Given the description of an element on the screen output the (x, y) to click on. 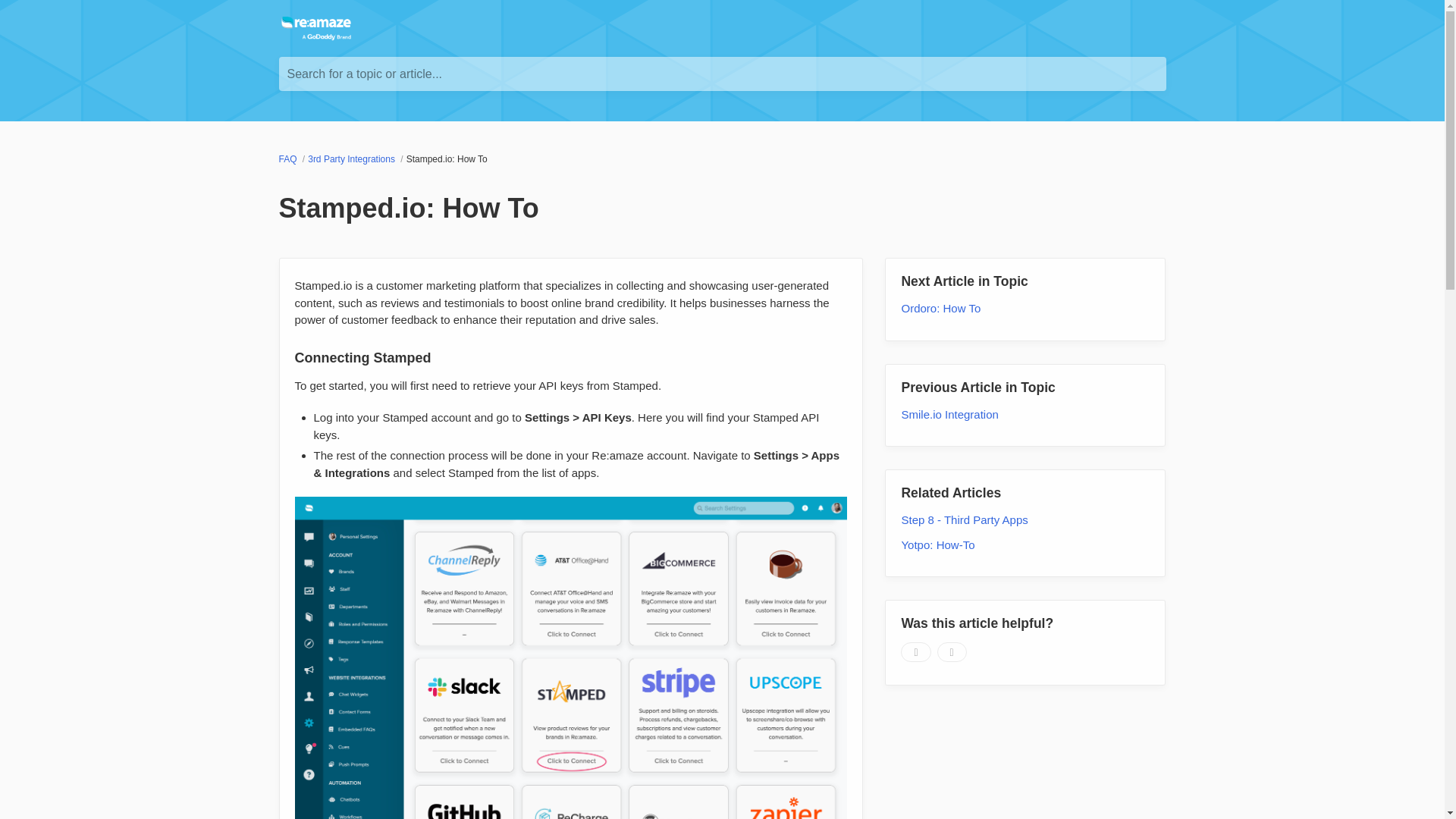
3rd Party Integrations (352, 158)
Step 8 - Third Party Apps (964, 519)
FAQ (289, 158)
Smile.io Integration (949, 413)
Yotpo: How-To (937, 544)
Ordoro: How To (940, 308)
